Given the description of an element on the screen output the (x, y) to click on. 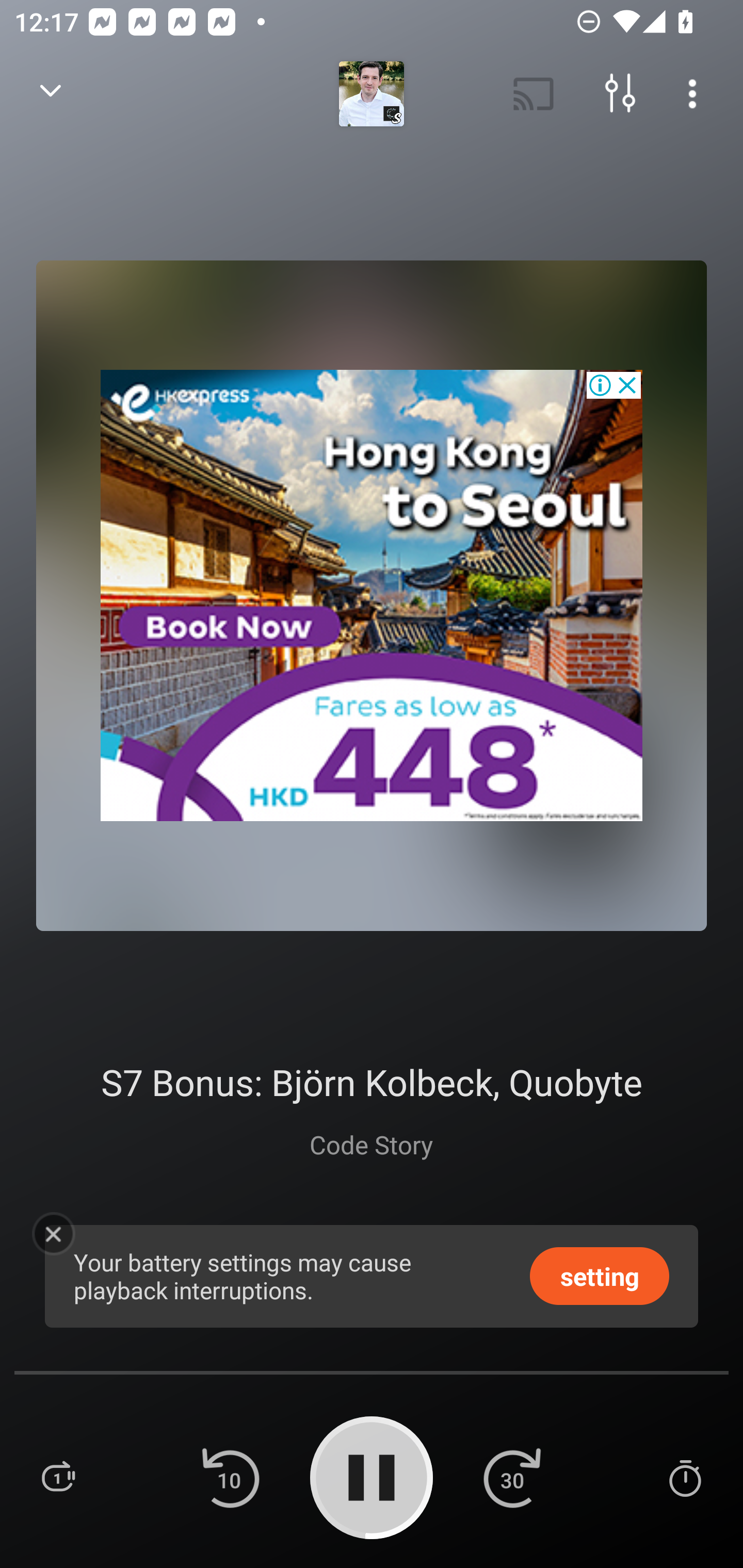
Cast. Disconnected (533, 93)
 Back (50, 94)
Advertisement (371, 595)
S7 Bonus: Björn Kolbeck, Quobyte (370, 1081)
Code Story (370, 1144)
setting (599, 1275)
 Playlist (57, 1477)
Sleep Timer  (684, 1477)
